Given the description of an element on the screen output the (x, y) to click on. 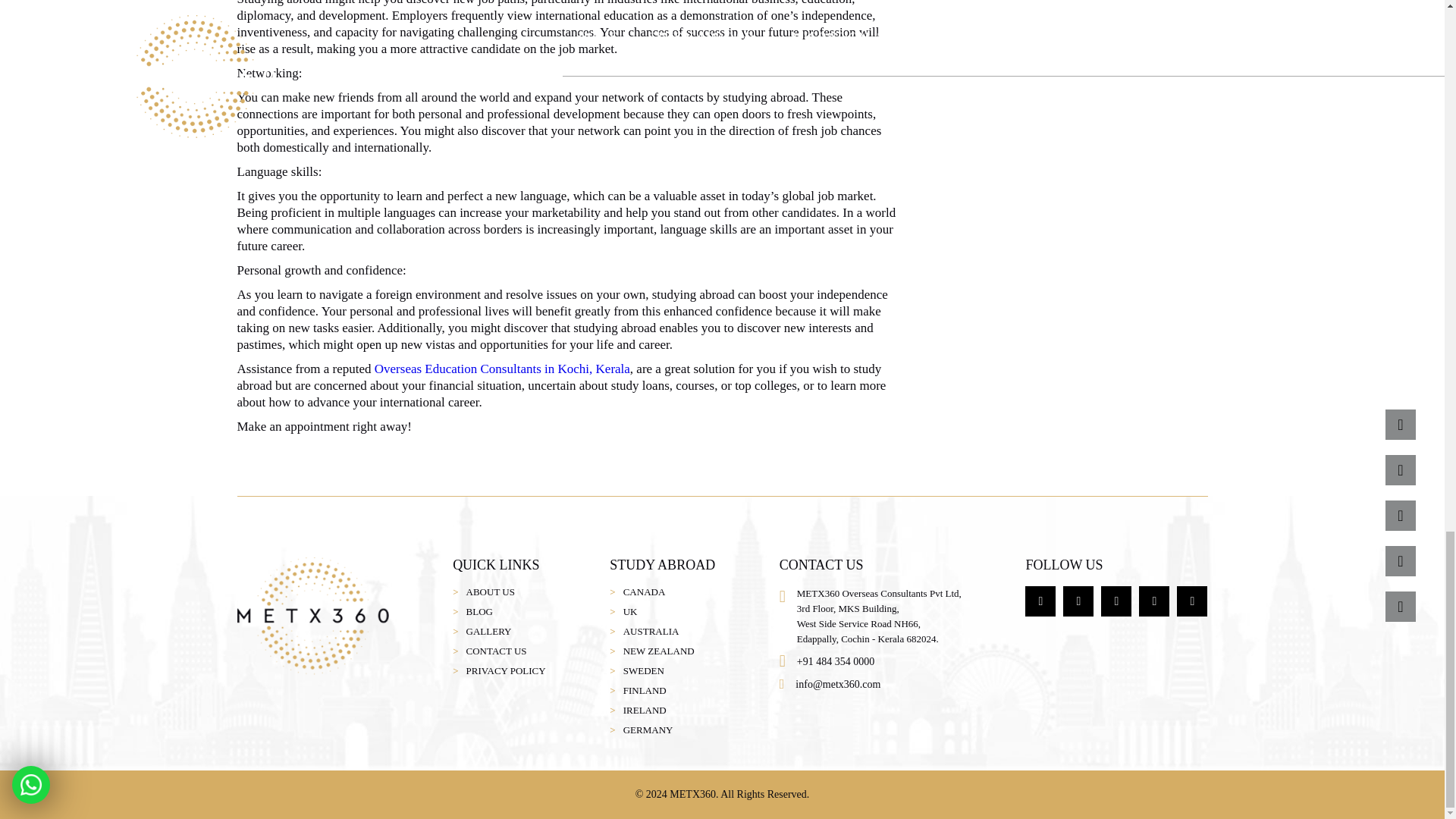
Overseas Education Consultants in Kochi, Kerala (502, 369)
